Given the description of an element on the screen output the (x, y) to click on. 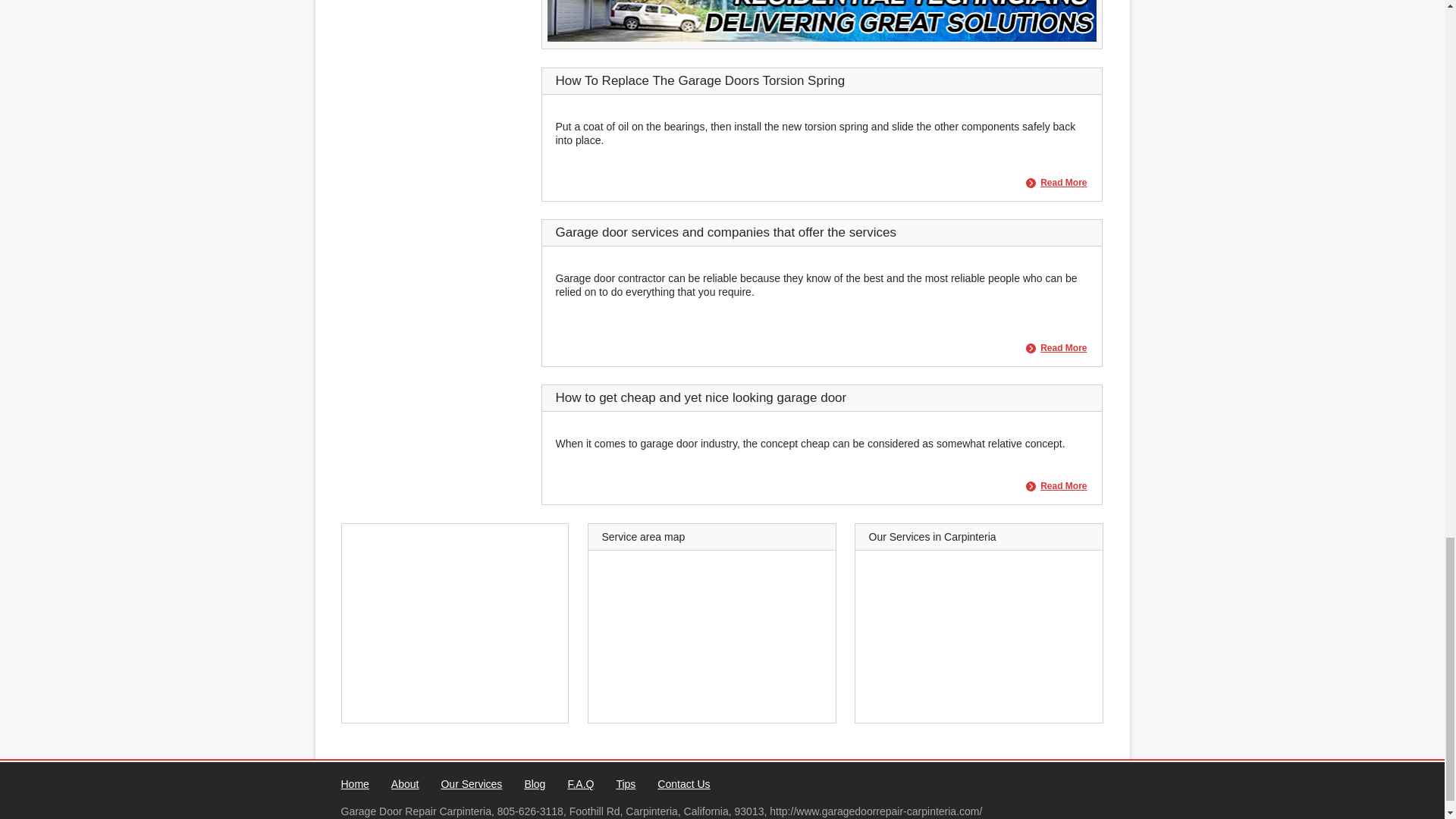
F.A.Q (580, 784)
Our Services (471, 784)
Contact Us (684, 784)
Tips (624, 784)
Read More (1056, 486)
Read More (1056, 183)
Read More (1056, 347)
About (405, 784)
Banner (821, 37)
Blog (534, 784)
Home (354, 784)
Read More (1056, 347)
Read More (1056, 183)
Read More (1056, 486)
